Given the description of an element on the screen output the (x, y) to click on. 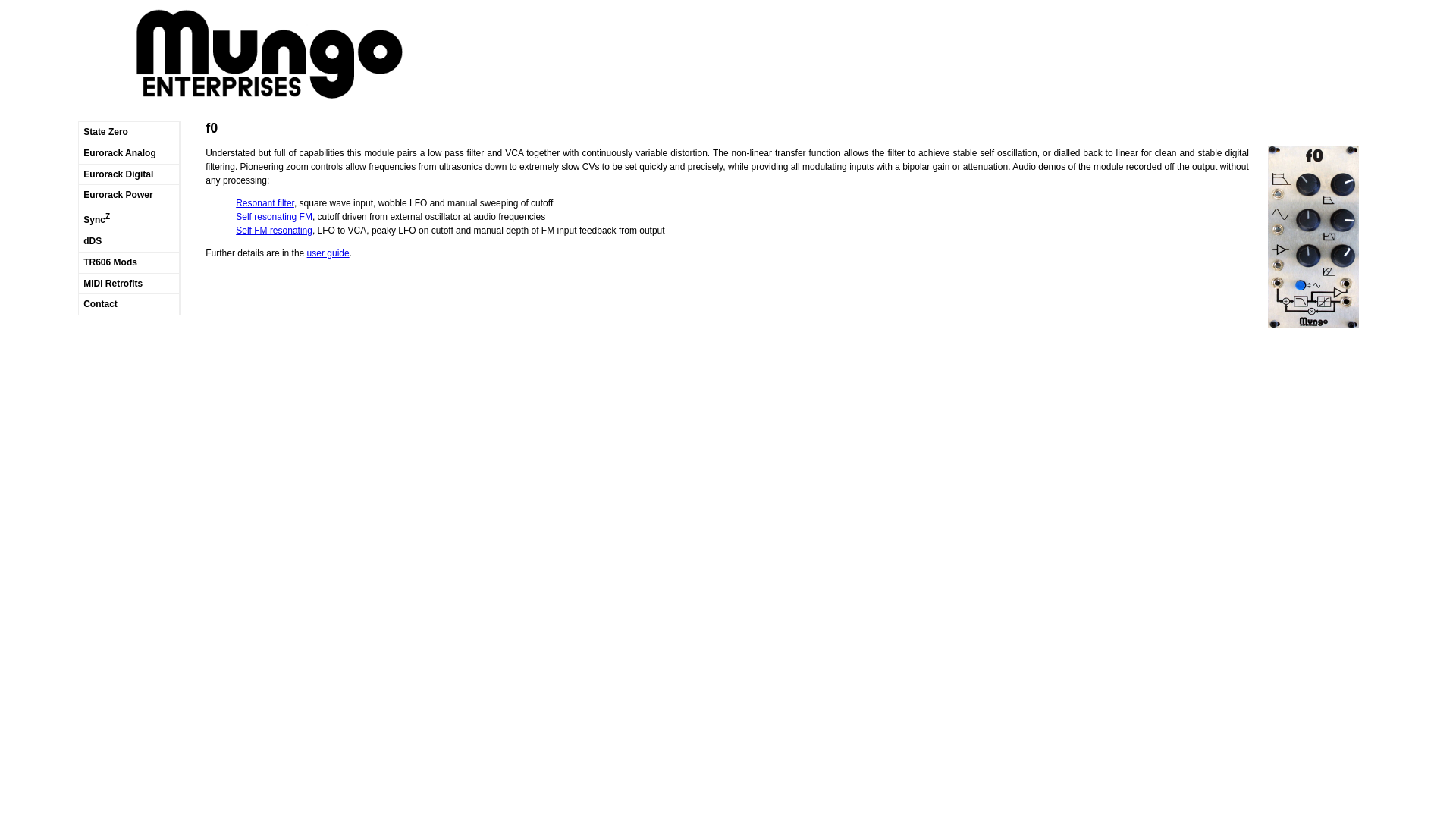
Self FM resonating Element type: text (273, 230)
SyncZ Element type: text (129, 218)
user guide Element type: text (328, 252)
Self resonating FM Element type: text (273, 216)
State Zero Element type: text (129, 132)
Eurorack Power Element type: text (129, 195)
Resonant filter Element type: text (264, 202)
TR606 Mods Element type: text (129, 262)
Eurorack Digital Element type: text (129, 174)
Eurorack Analog Element type: text (129, 153)
MIDI Retrofits Element type: text (129, 283)
Contact Element type: text (129, 304)
dDS Element type: text (129, 241)
